Given the description of an element on the screen output the (x, y) to click on. 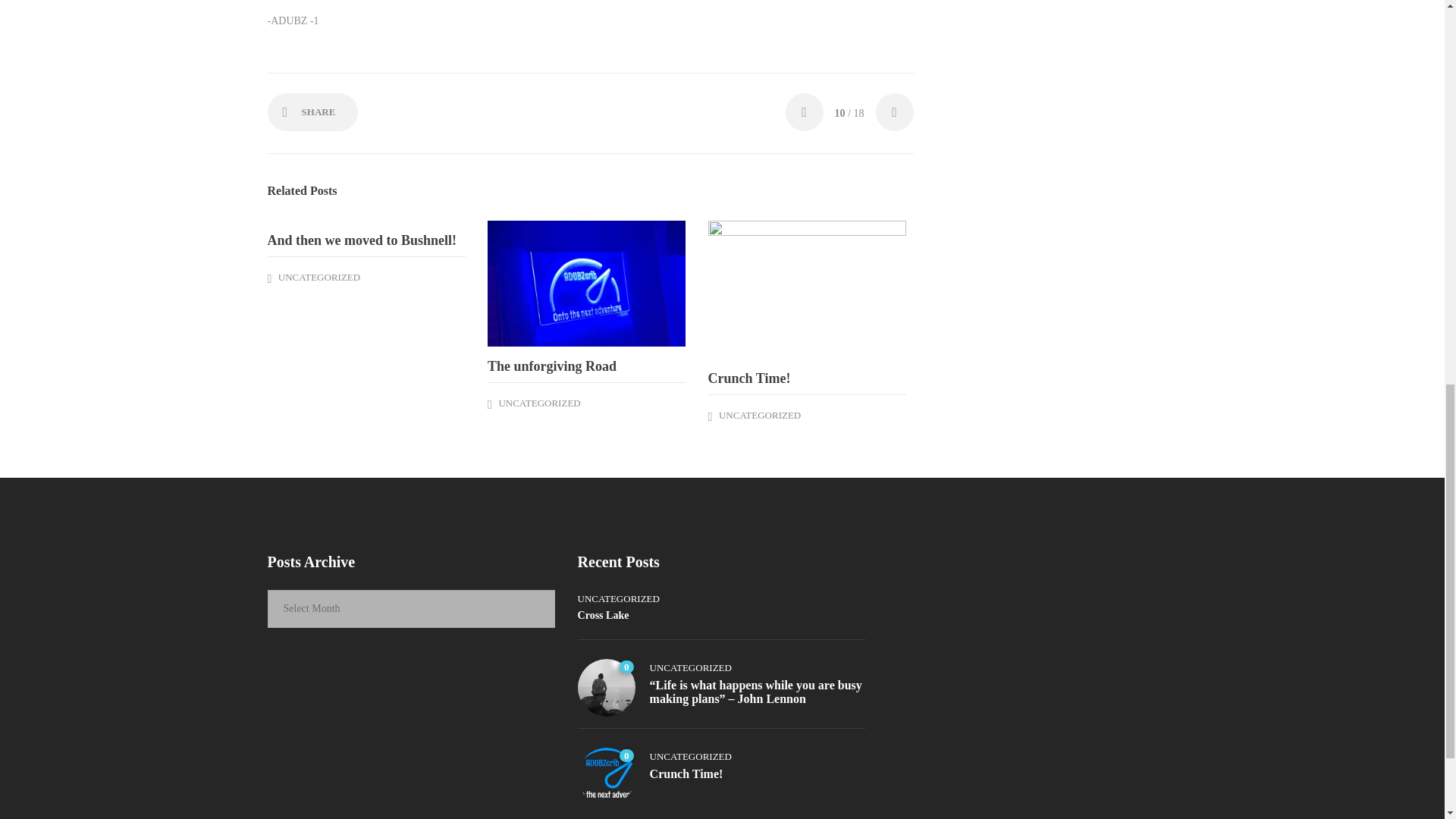
UNCATEGORIZED (538, 402)
And then we moved to Bushnell! (365, 239)
UNCATEGORIZED (318, 276)
The unforgiving Road (586, 366)
UNCATEGORIZED (759, 414)
Crunch Time! (806, 378)
